Given the description of an element on the screen output the (x, y) to click on. 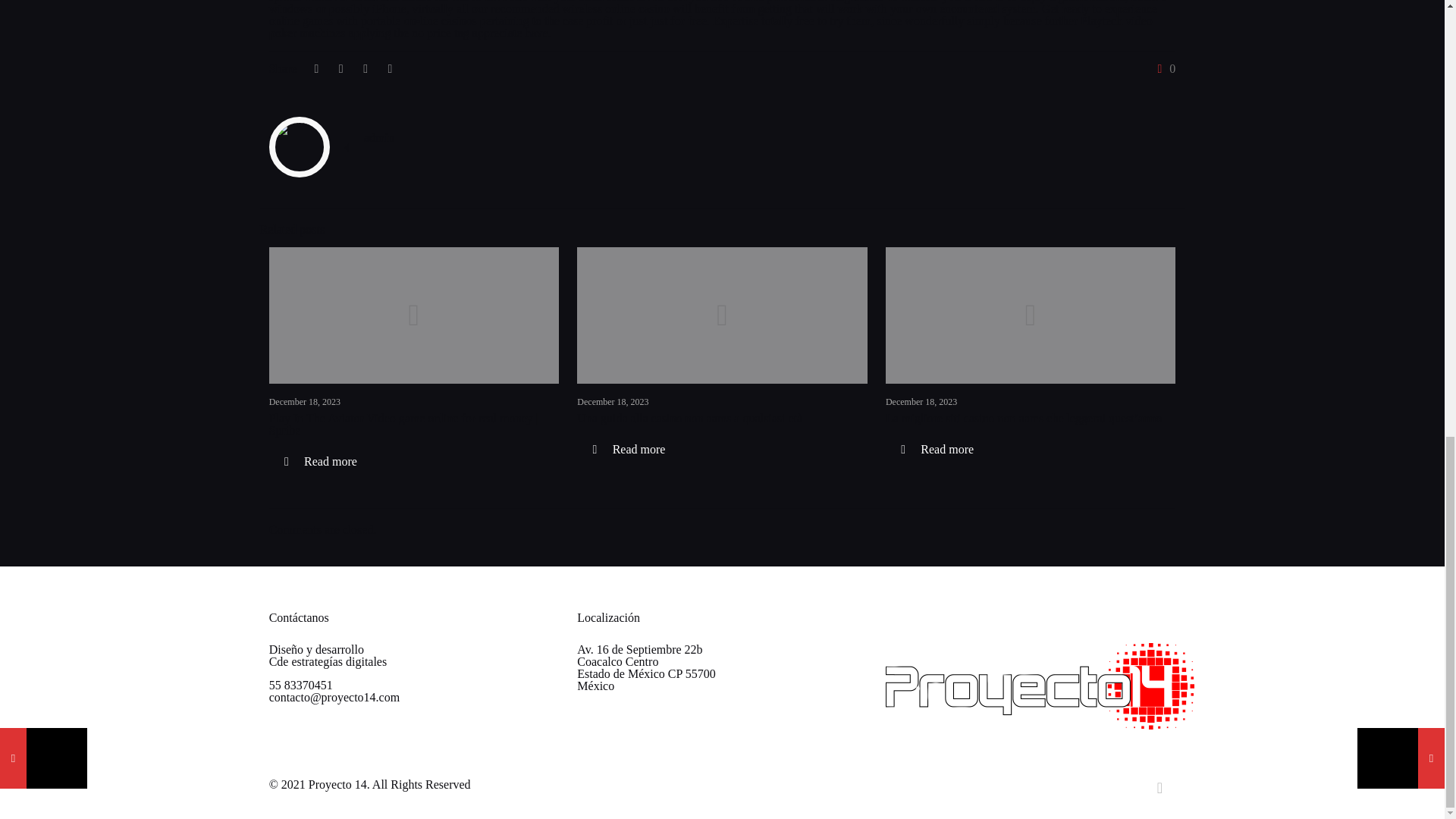
Read more (627, 449)
0 (1162, 69)
Read more (320, 461)
admin (379, 137)
Read more (936, 449)
